Given the description of an element on the screen output the (x, y) to click on. 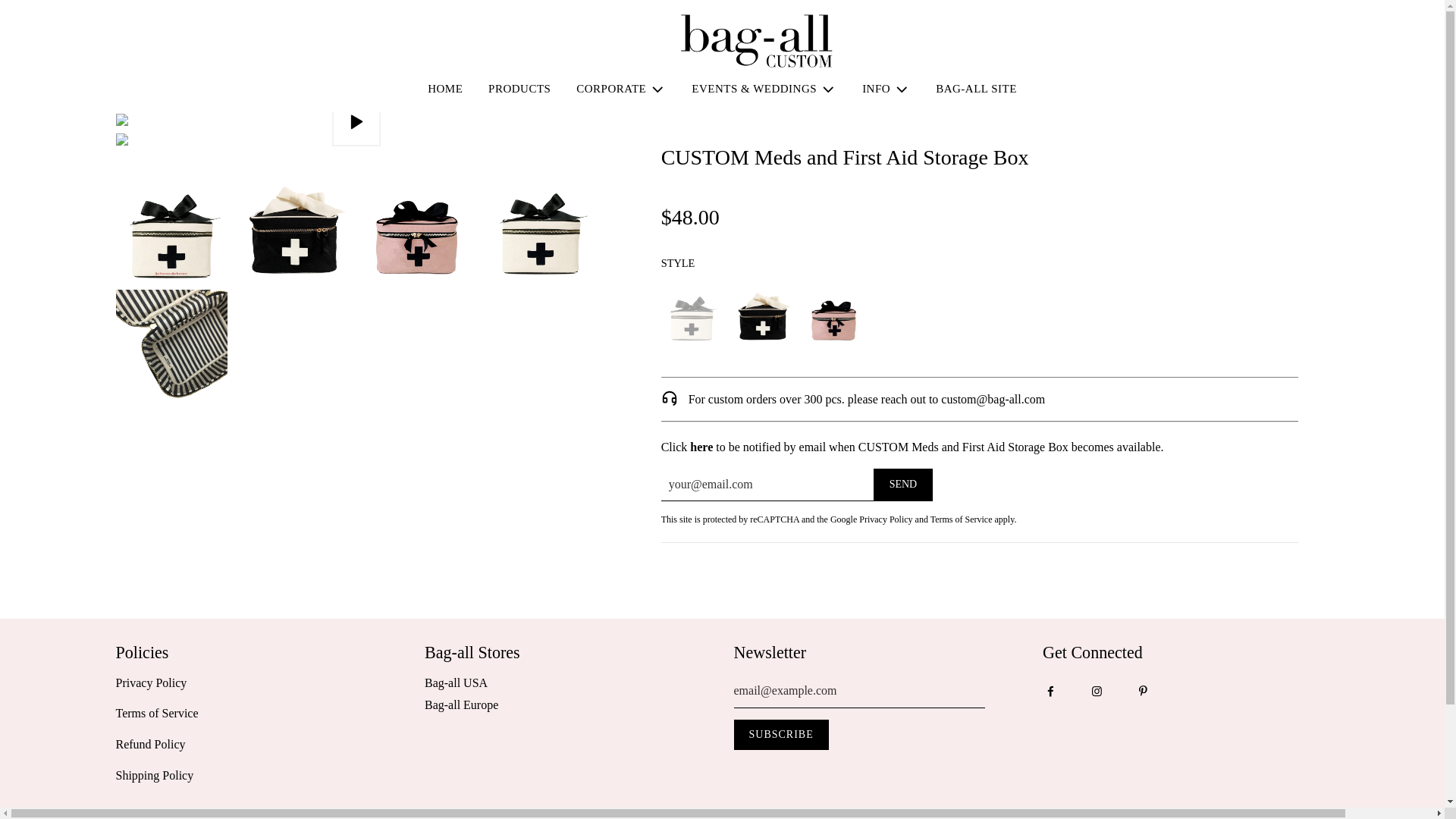
CORPORATE (620, 87)
Subscribe (780, 734)
Terms of Service (156, 712)
Send (903, 484)
Shipping Policy (154, 775)
Refund Policy (149, 744)
Privacy Policy (150, 682)
PRODUCTS (519, 87)
HOME (445, 87)
